Given the description of an element on the screen output the (x, y) to click on. 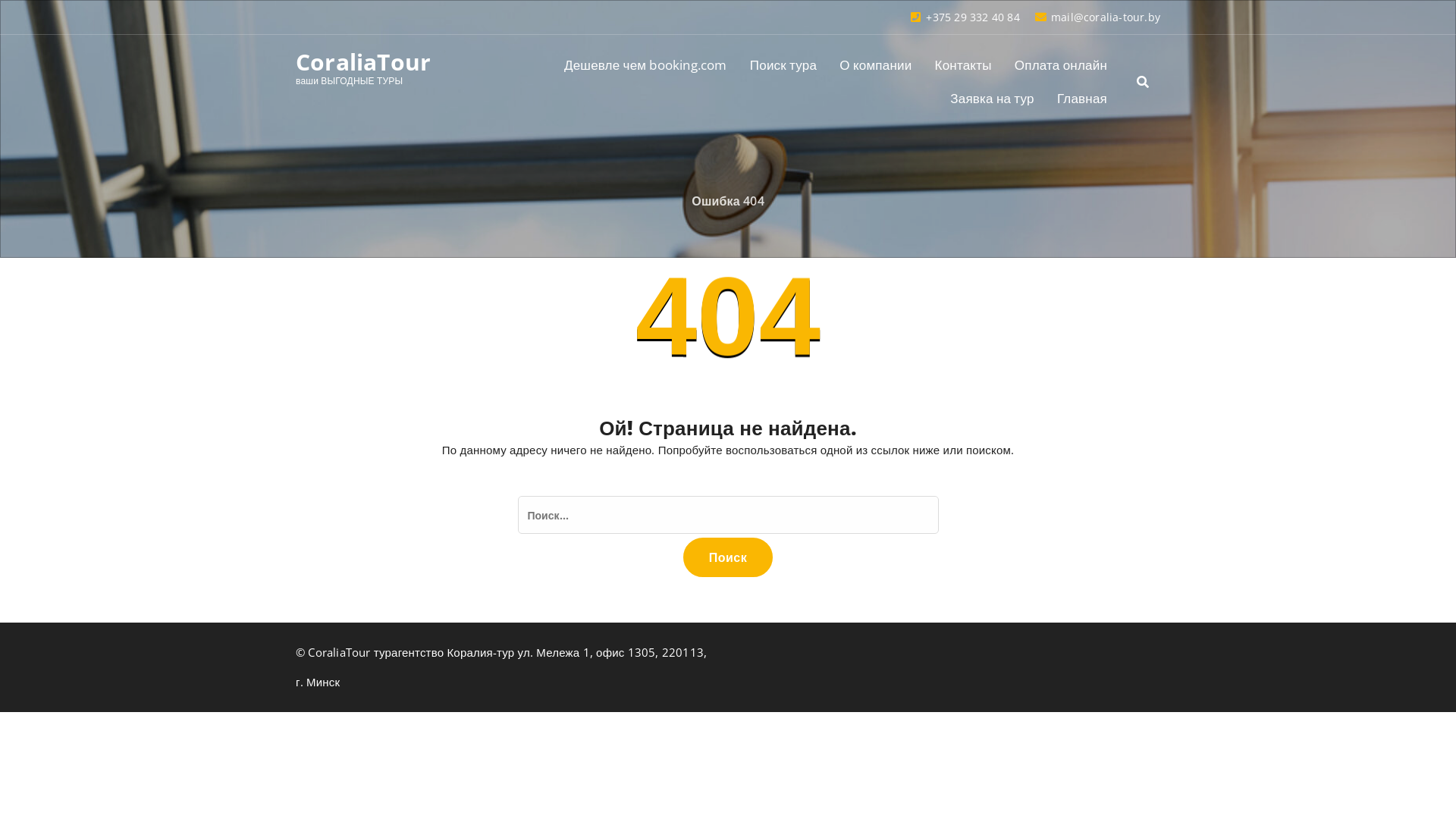
+375 29 332 40 84 Element type: text (964, 17)
mail@coralia-tour.by Element type: text (1097, 17)
CoraliaTour Element type: text (362, 61)
